Given the description of an element on the screen output the (x, y) to click on. 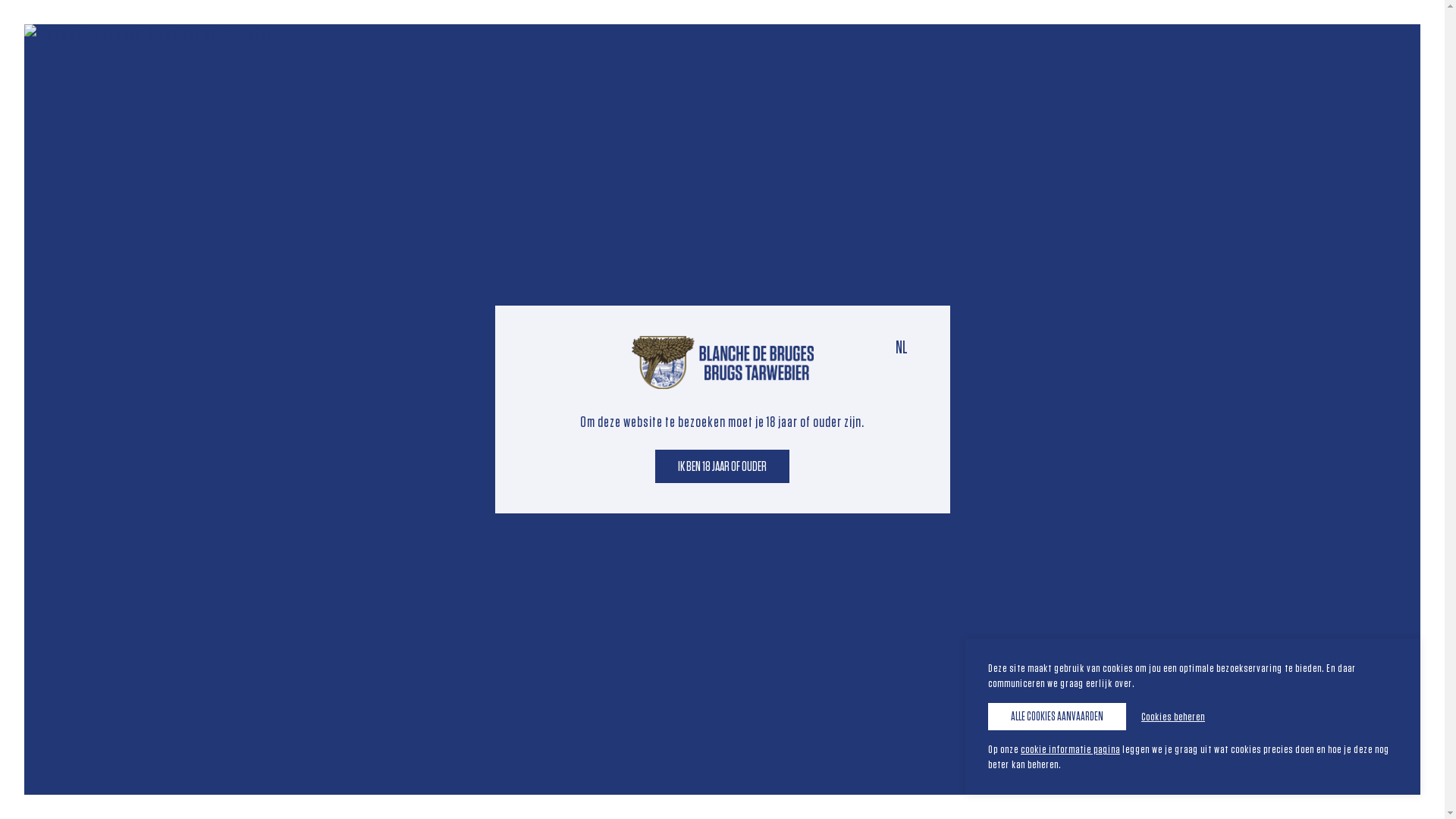
HET VERHAAL Element type: text (202, 479)
Brouwerij Element type: text (903, 83)
Contact Element type: text (1077, 83)
ALLE COOKIES AANVAARDEN Element type: text (1057, 716)
cookie informatie pagina Element type: text (1070, 749)
Cocktails Element type: text (992, 83)
Het bier Element type: text (719, 83)
Het verhaal Element type: text (809, 83)
Webshop Element type: text (1234, 83)
Horeca Element type: text (1154, 83)
IK BEN 18 JAAR OF OUDER Element type: text (722, 466)
HET BIER Element type: text (310, 479)
